Given the description of an element on the screen output the (x, y) to click on. 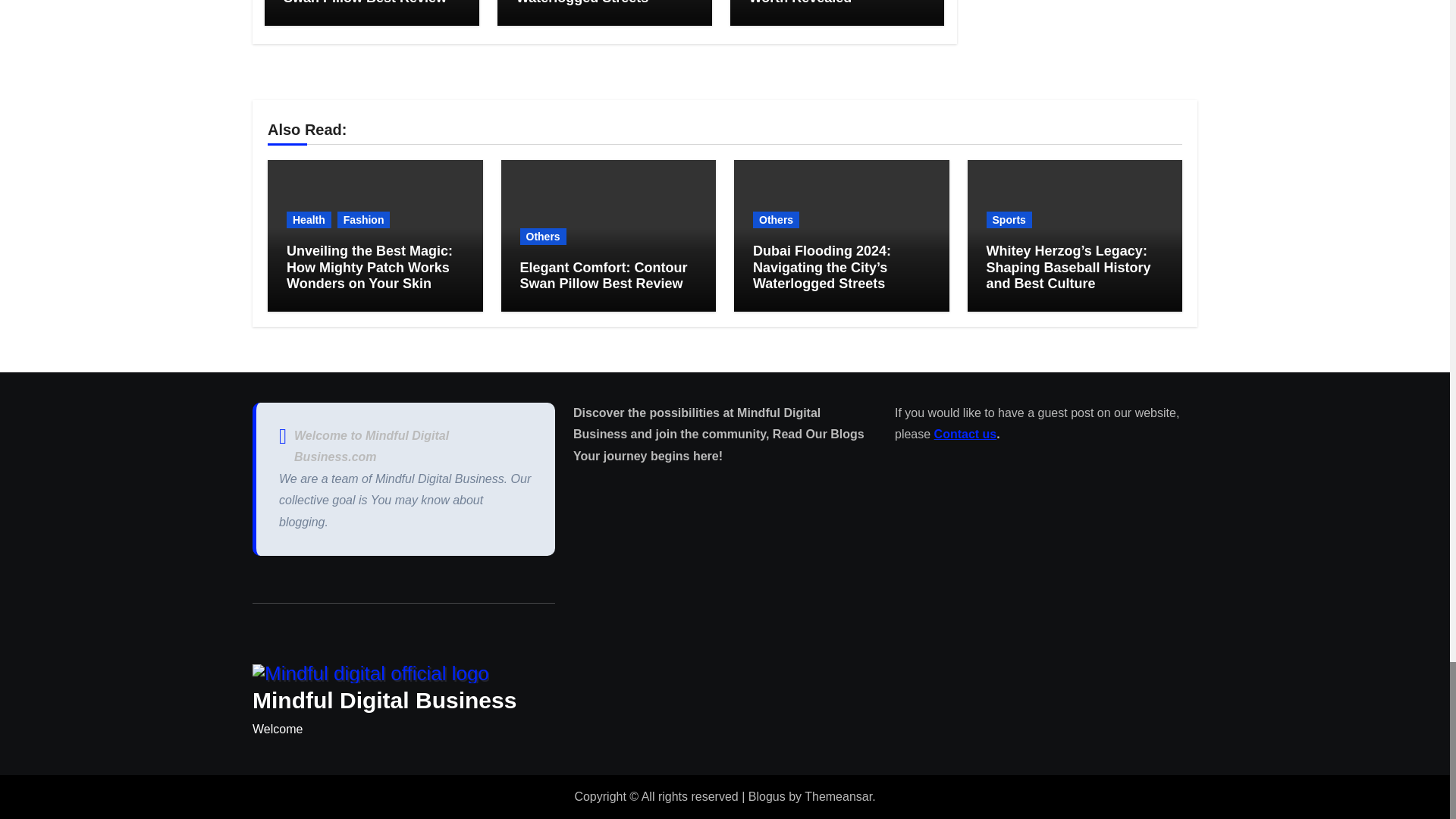
Unlocking the Best Fortune: Roger Daltrey Net Worth Revealed (836, 2)
Elegant Comfort: Contour Swan Pillow Best Review (367, 2)
